Given the description of an element on the screen output the (x, y) to click on. 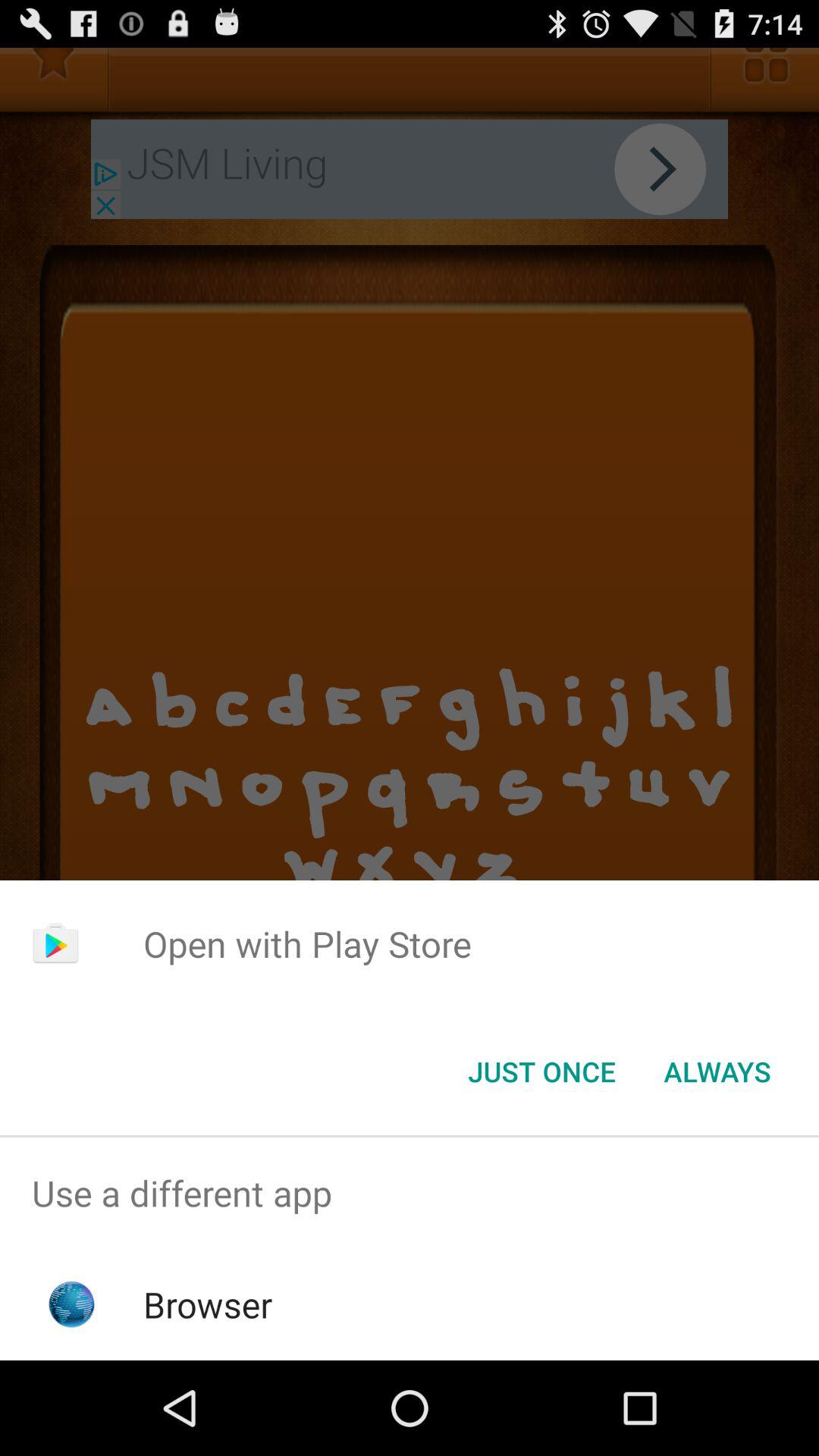
flip until use a different icon (409, 1192)
